Given the description of an element on the screen output the (x, y) to click on. 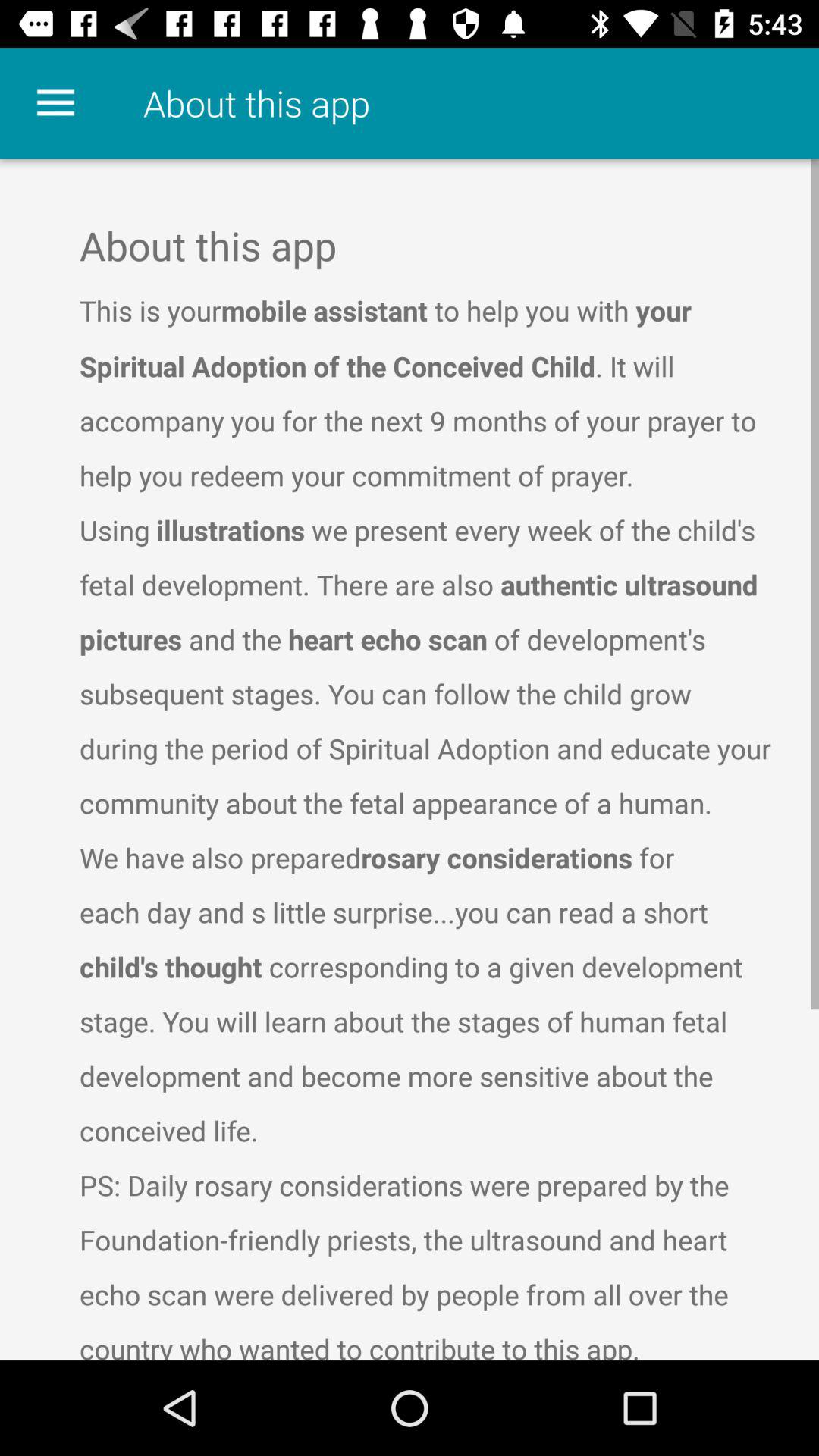
press the item at the top left corner (55, 103)
